Given the description of an element on the screen output the (x, y) to click on. 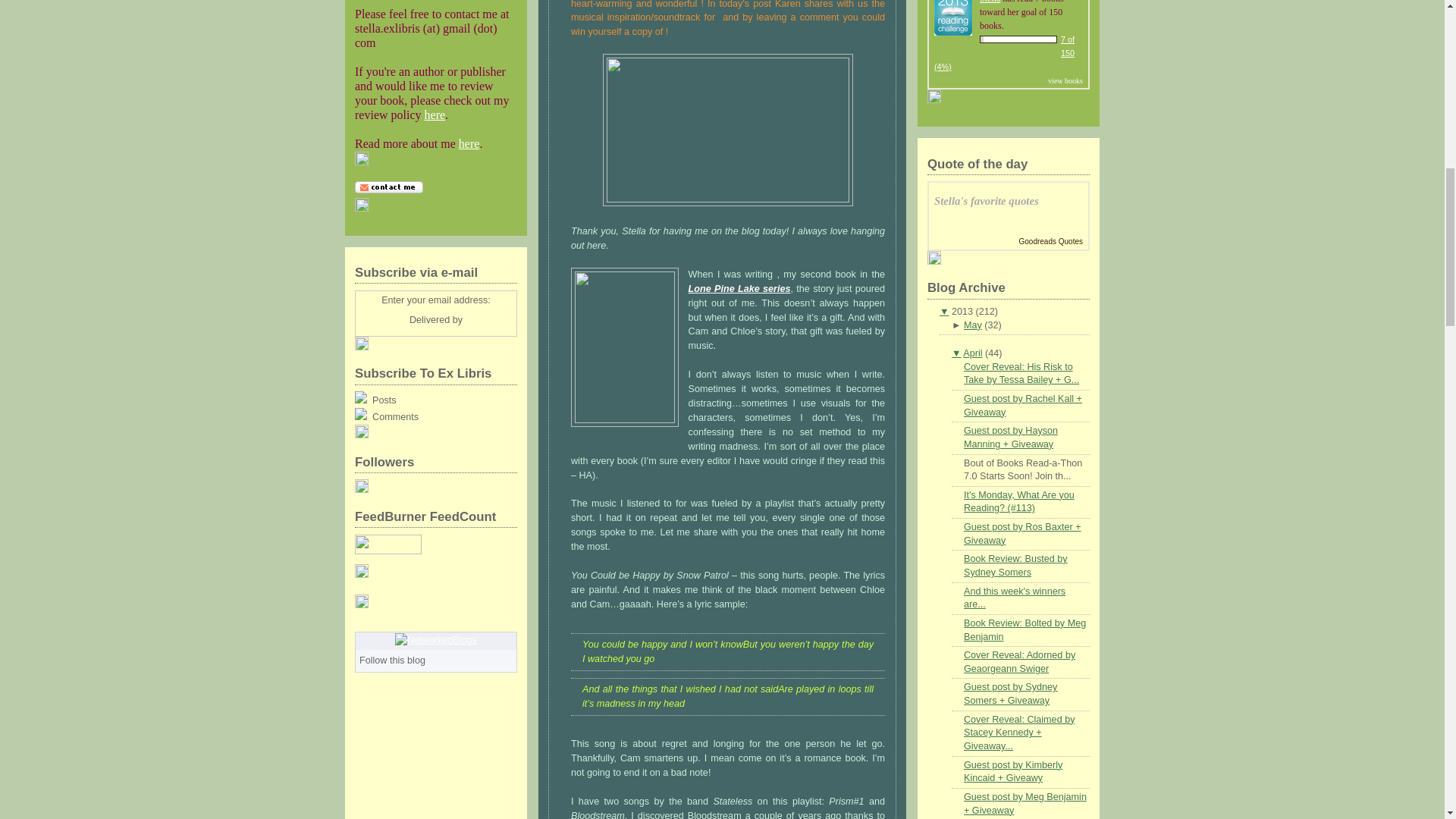
Edit (361, 208)
Edit (361, 574)
Edit (361, 604)
here (469, 143)
Edit (361, 162)
Edit (361, 489)
NetworkedBlogs (435, 640)
NetworkedBlogs (435, 639)
here (435, 114)
Edit (361, 347)
Edit (361, 434)
